Given the description of an element on the screen output the (x, y) to click on. 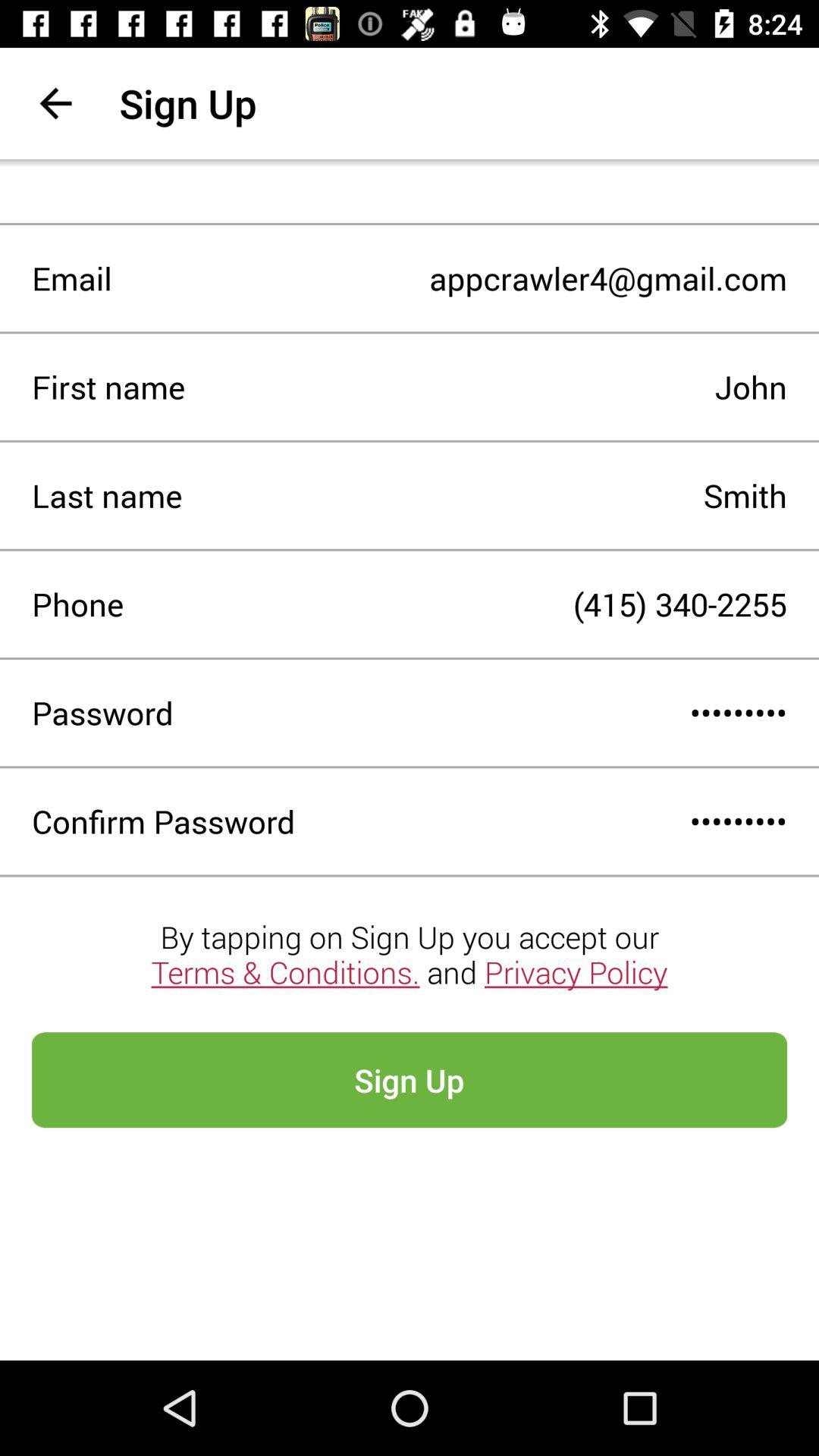
flip until appcrawler4@gmail.com icon (449, 278)
